Given the description of an element on the screen output the (x, y) to click on. 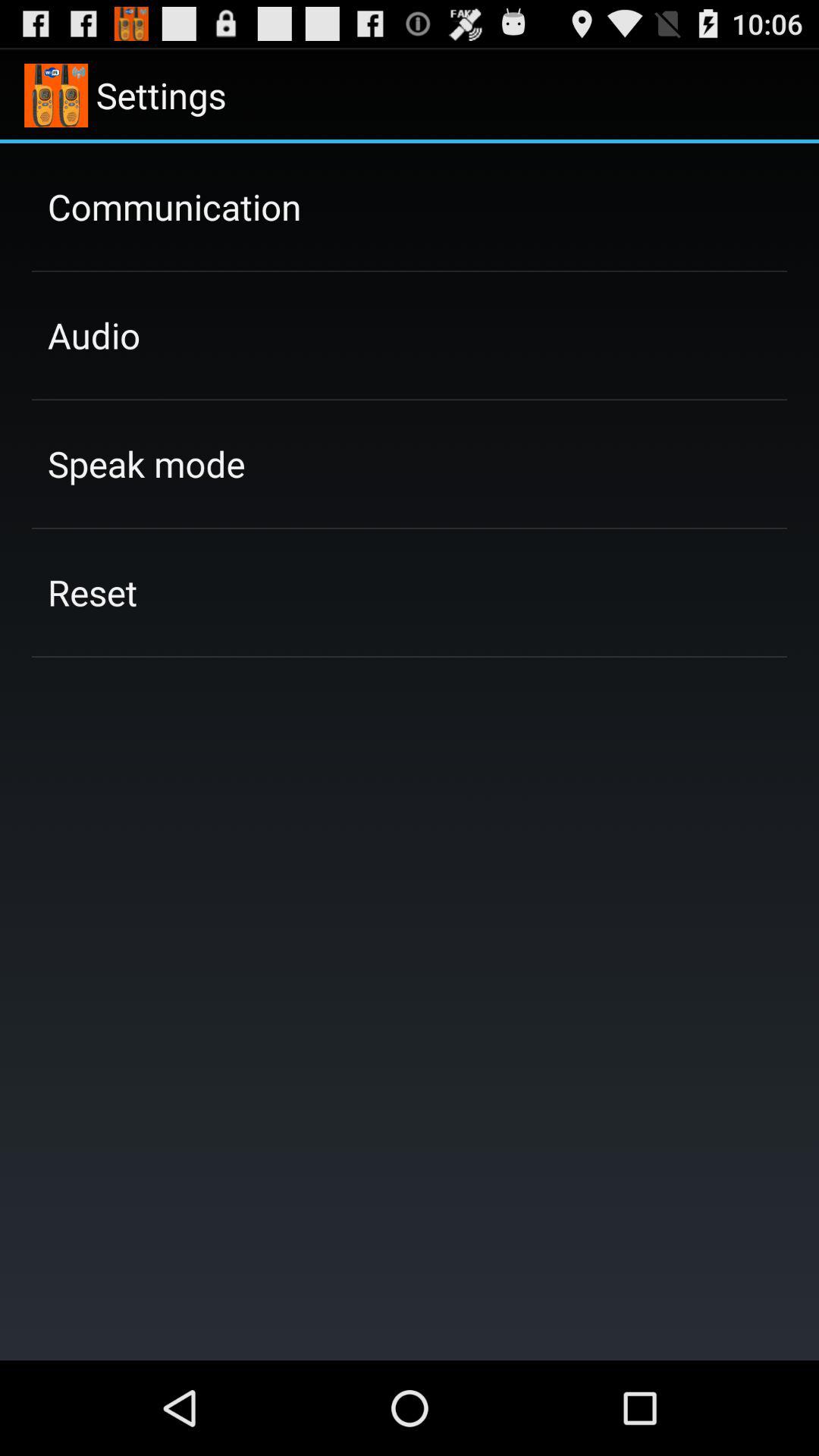
flip to the speak mode item (146, 463)
